Given the description of an element on the screen output the (x, y) to click on. 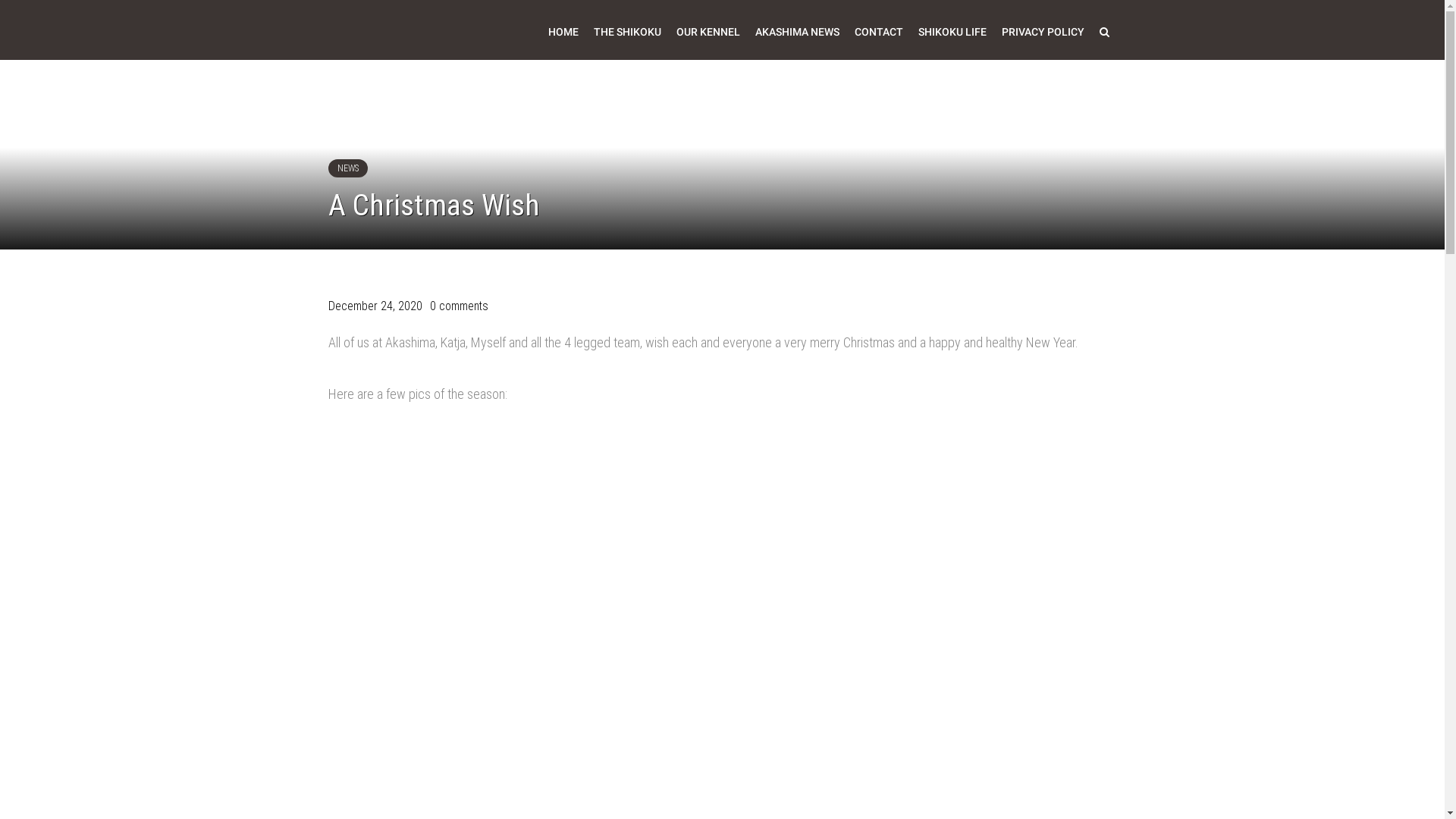
OUR KENNEL Element type: text (707, 31)
0 comments Element type: text (458, 305)
Search Element type: hover (1104, 31)
AKASHIMA NEWS Element type: text (797, 31)
HOME Element type: text (562, 31)
CONTACT Element type: text (878, 31)
SHIKOKU LIFE Element type: text (951, 31)
THE SHIKOKU Element type: text (626, 31)
PRIVACY POLICY Element type: text (1042, 31)
Skip to content Element type: text (0, 0)
NEWS Element type: text (347, 168)
December 24, 2020 Element type: text (374, 305)
